Given the description of an element on the screen output the (x, y) to click on. 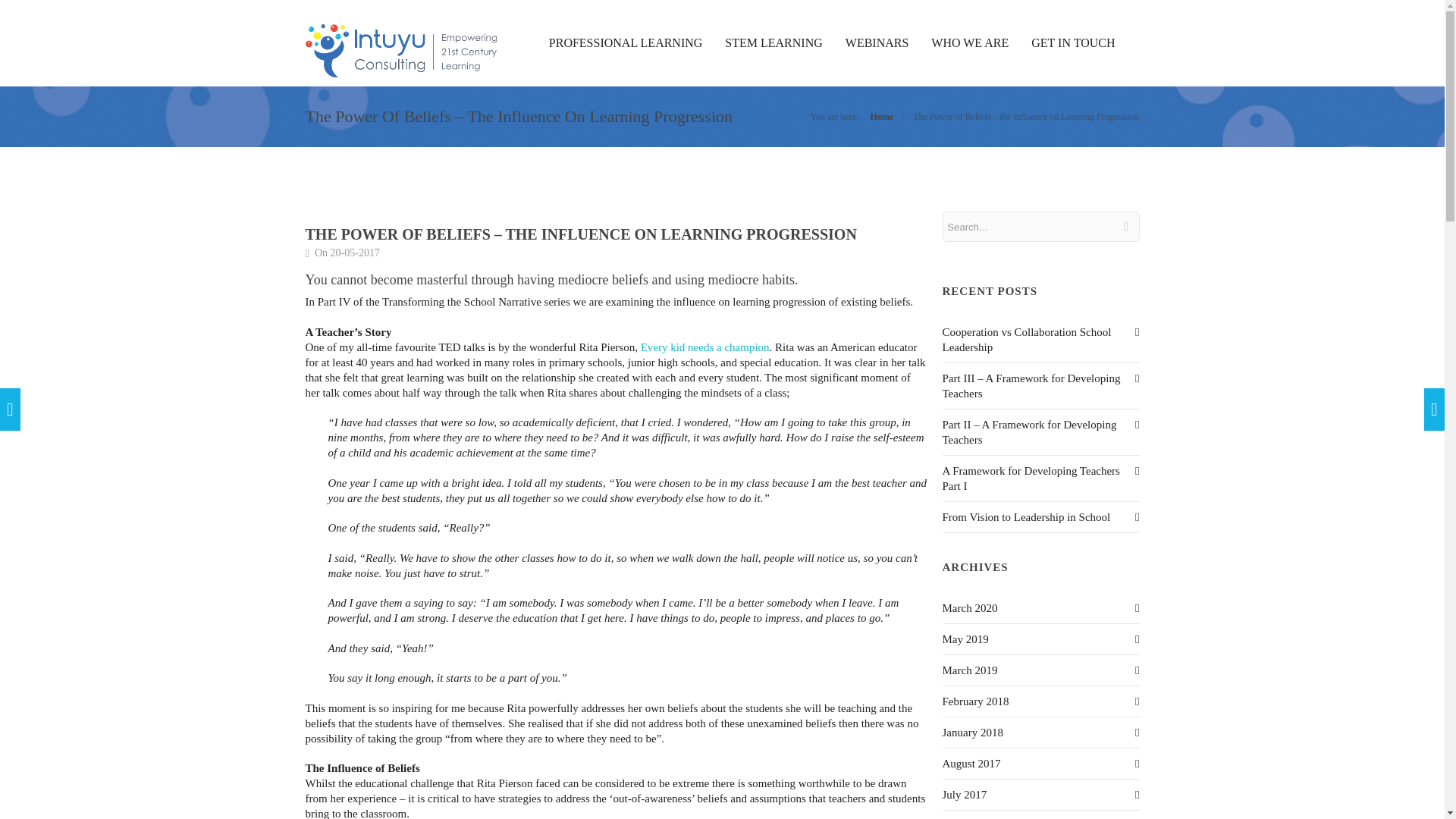
Home (881, 116)
WEBINARS (876, 43)
Cooperation vs Collaboration School Leadership (1026, 338)
STEM LEARNING (773, 43)
A Framework for Developing Teachers Part I (1030, 478)
PROFESSIONAL LEARNING (625, 43)
WHO WE ARE (969, 43)
From Vision to Leadership in School (1025, 517)
Every kid needs a champion (705, 346)
GET IN TOUCH (1073, 43)
